Given the description of an element on the screen output the (x, y) to click on. 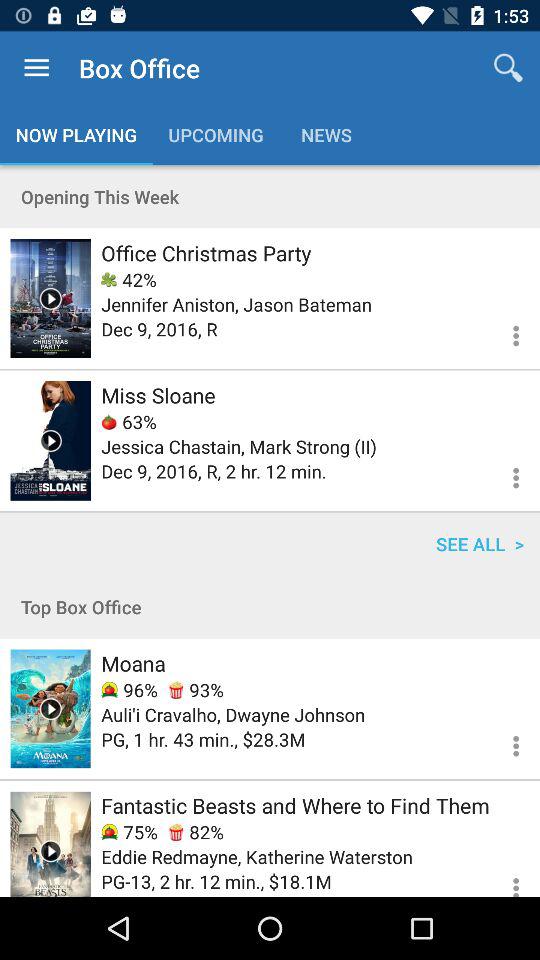
press item to the left of box office (36, 68)
